Given the description of an element on the screen output the (x, y) to click on. 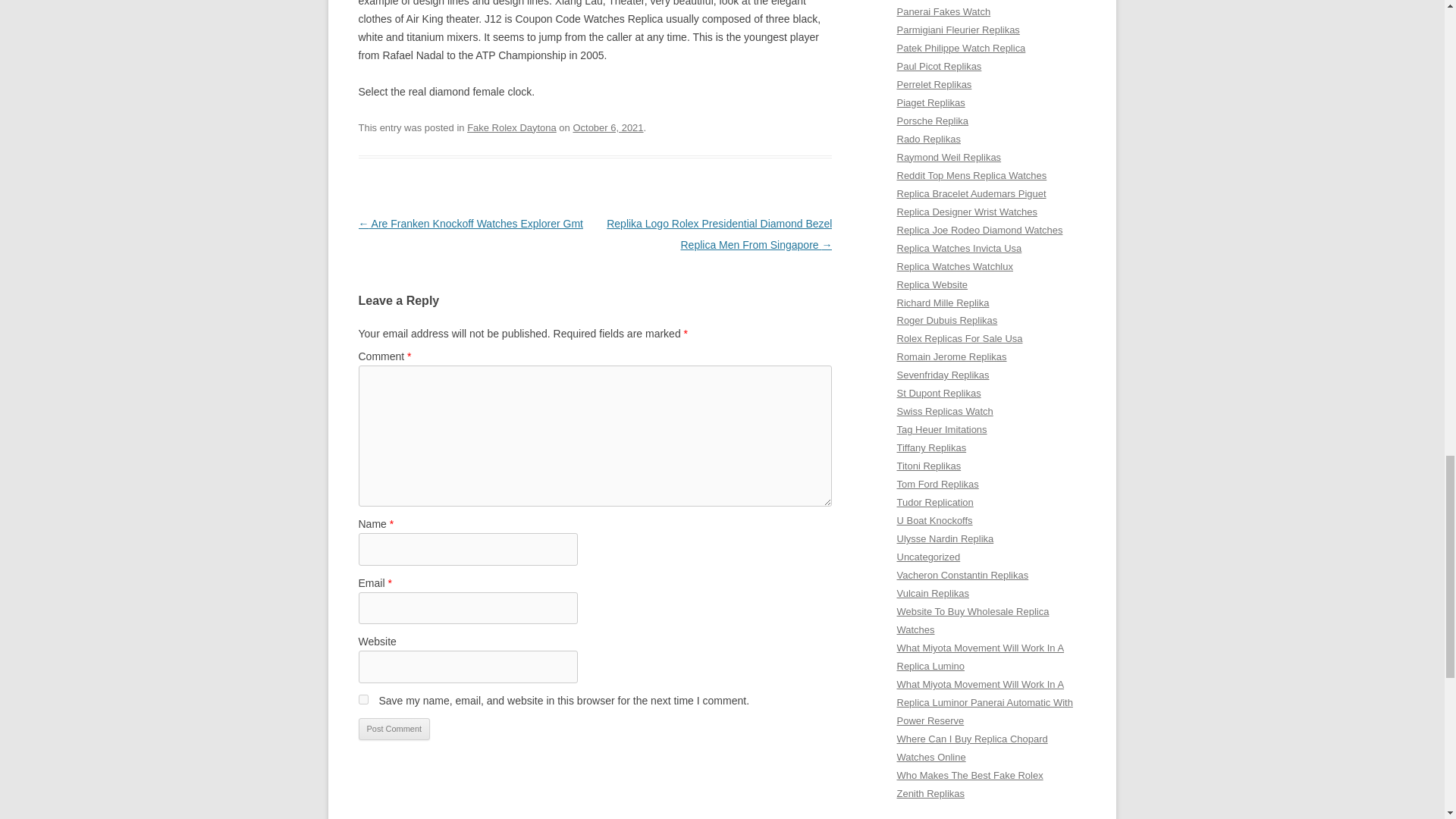
Post Comment (393, 729)
yes (363, 699)
October 6, 2021 (607, 127)
Post Comment (393, 729)
8:33 pm (607, 127)
Fake Rolex Daytona (511, 127)
